Given the description of an element on the screen output the (x, y) to click on. 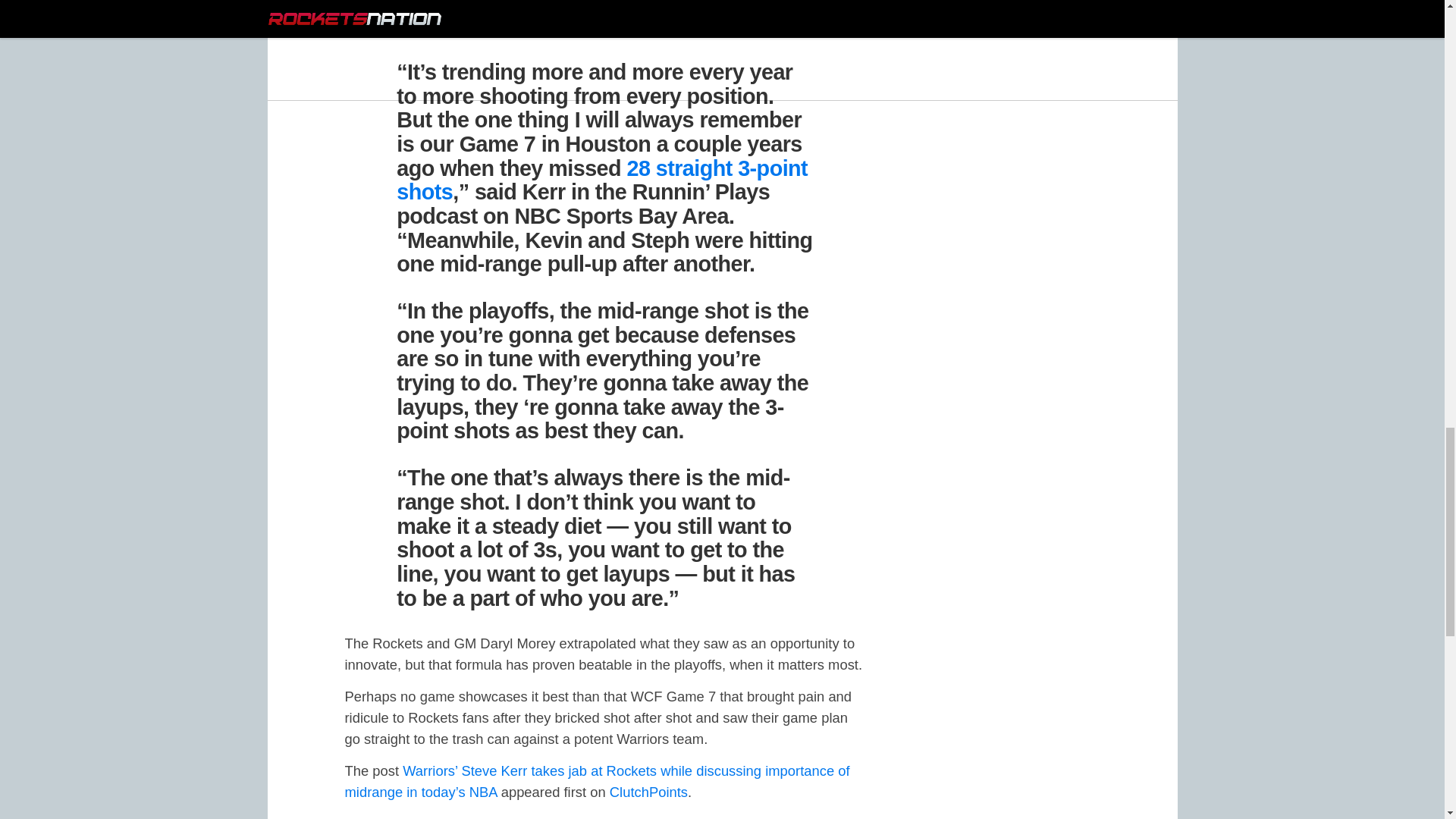
ClutchPoints (648, 791)
28 straight 3-point shots (602, 180)
Drew Shiller of NBC Sports (514, 26)
